Given the description of an element on the screen output the (x, y) to click on. 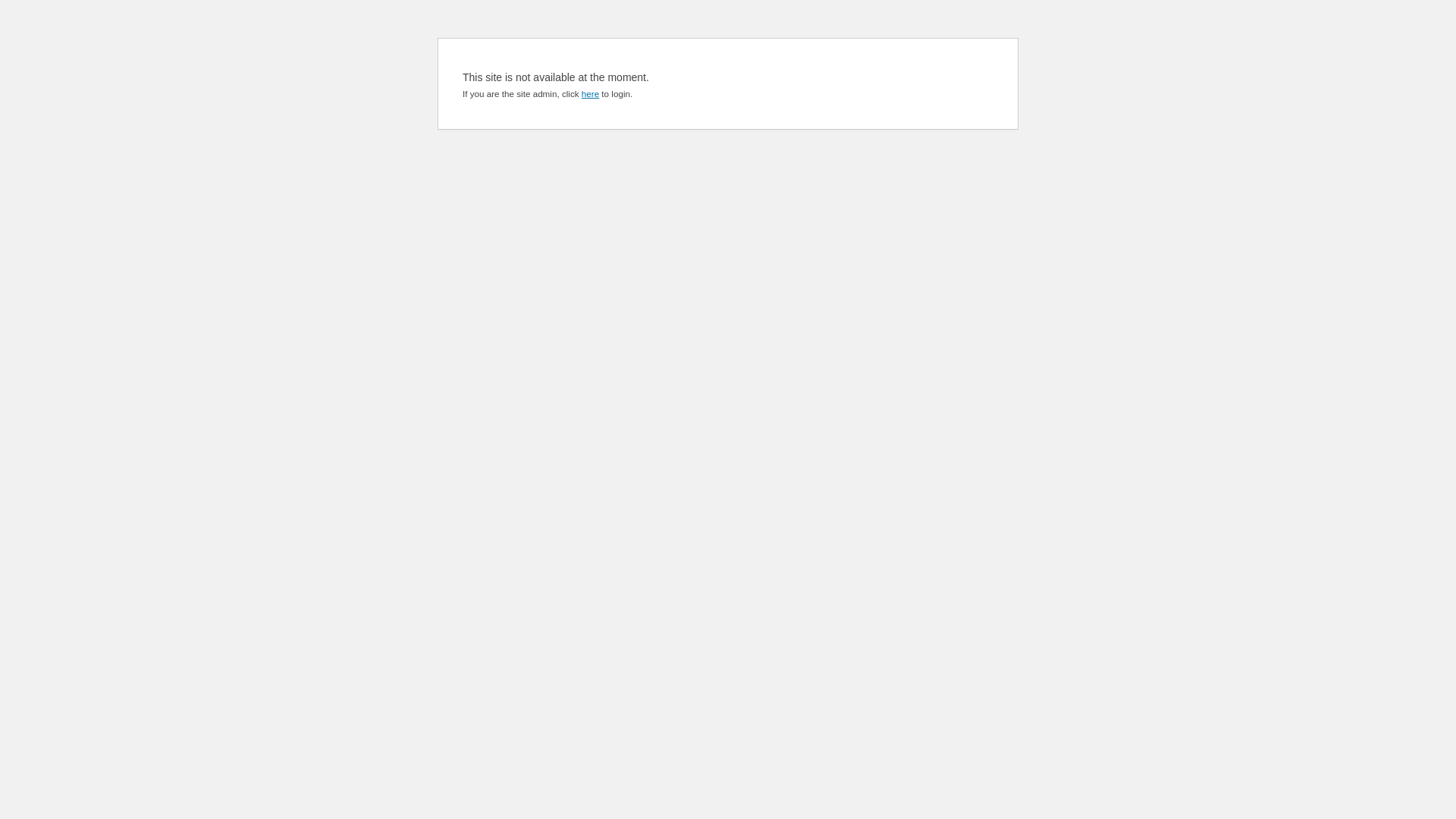
here Element type: text (590, 93)
